Given the description of an element on the screen output the (x, y) to click on. 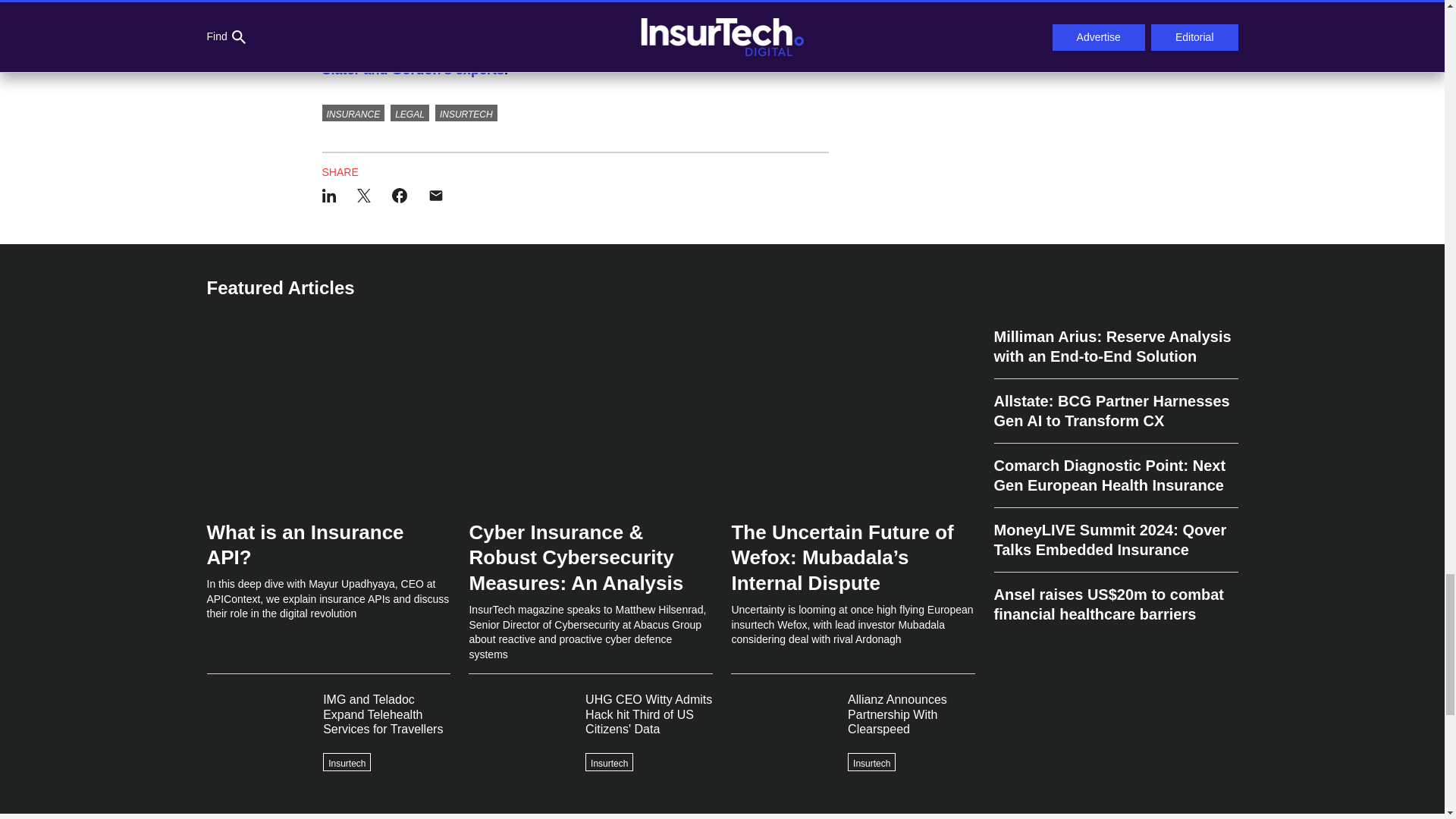
property conveyancing (396, 7)
defence - criminal law (550, 7)
INSURANCE (352, 112)
will and trust services (726, 7)
LEGAL (409, 112)
Milliman Arius: Reserve Analysis with an End-to-End Solution (1114, 352)
INSURTECH (466, 112)
